Given the description of an element on the screen output the (x, y) to click on. 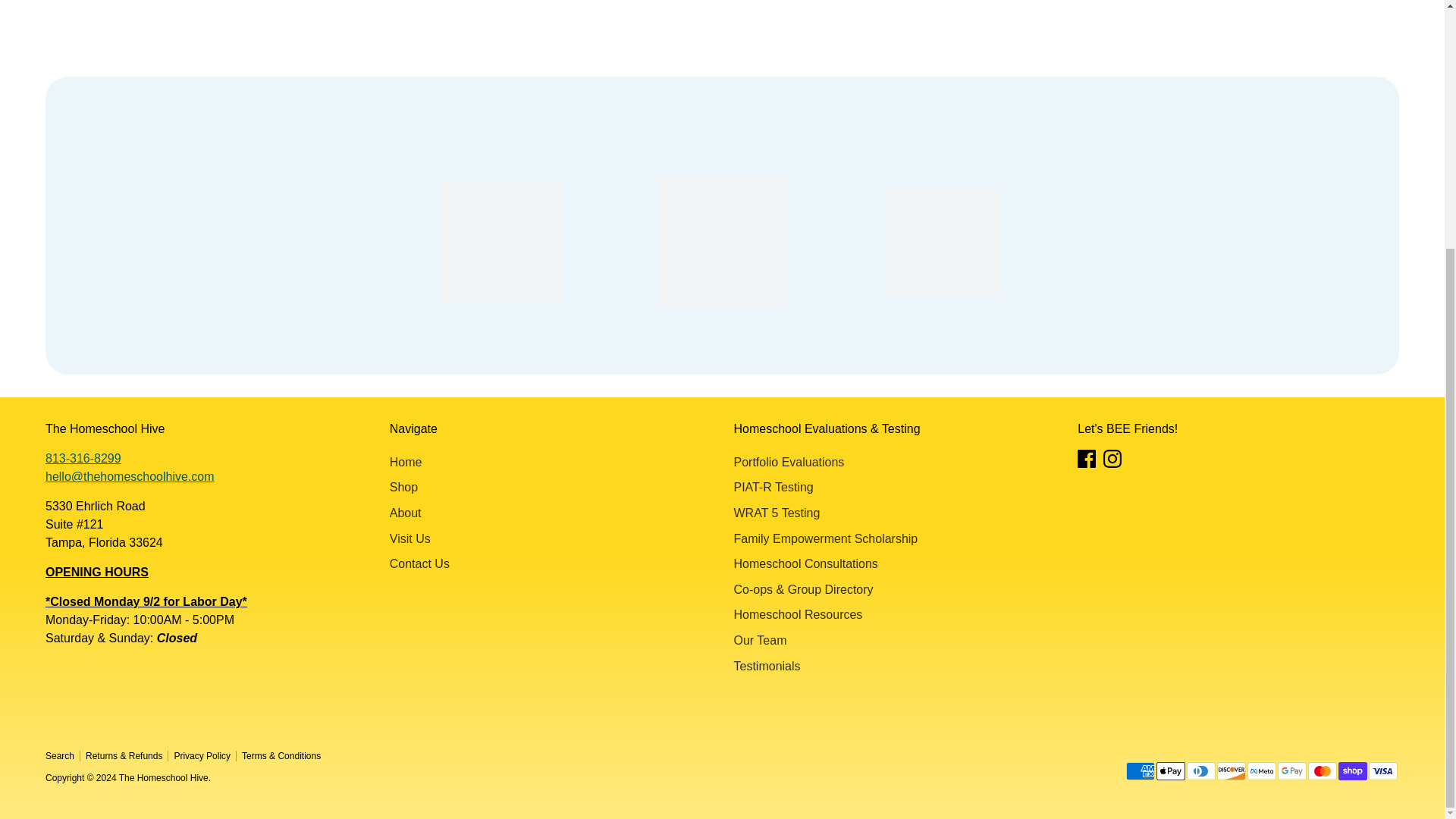
Diners Club (1200, 771)
Google Pay (1292, 771)
Shop Pay (1352, 771)
Mastercard (1321, 771)
Meta Pay (1261, 771)
American Express (1139, 771)
Visa (1382, 771)
Discover (1231, 771)
tel:813-316-8299 (82, 458)
Apple Pay (1170, 771)
